Given the description of an element on the screen output the (x, y) to click on. 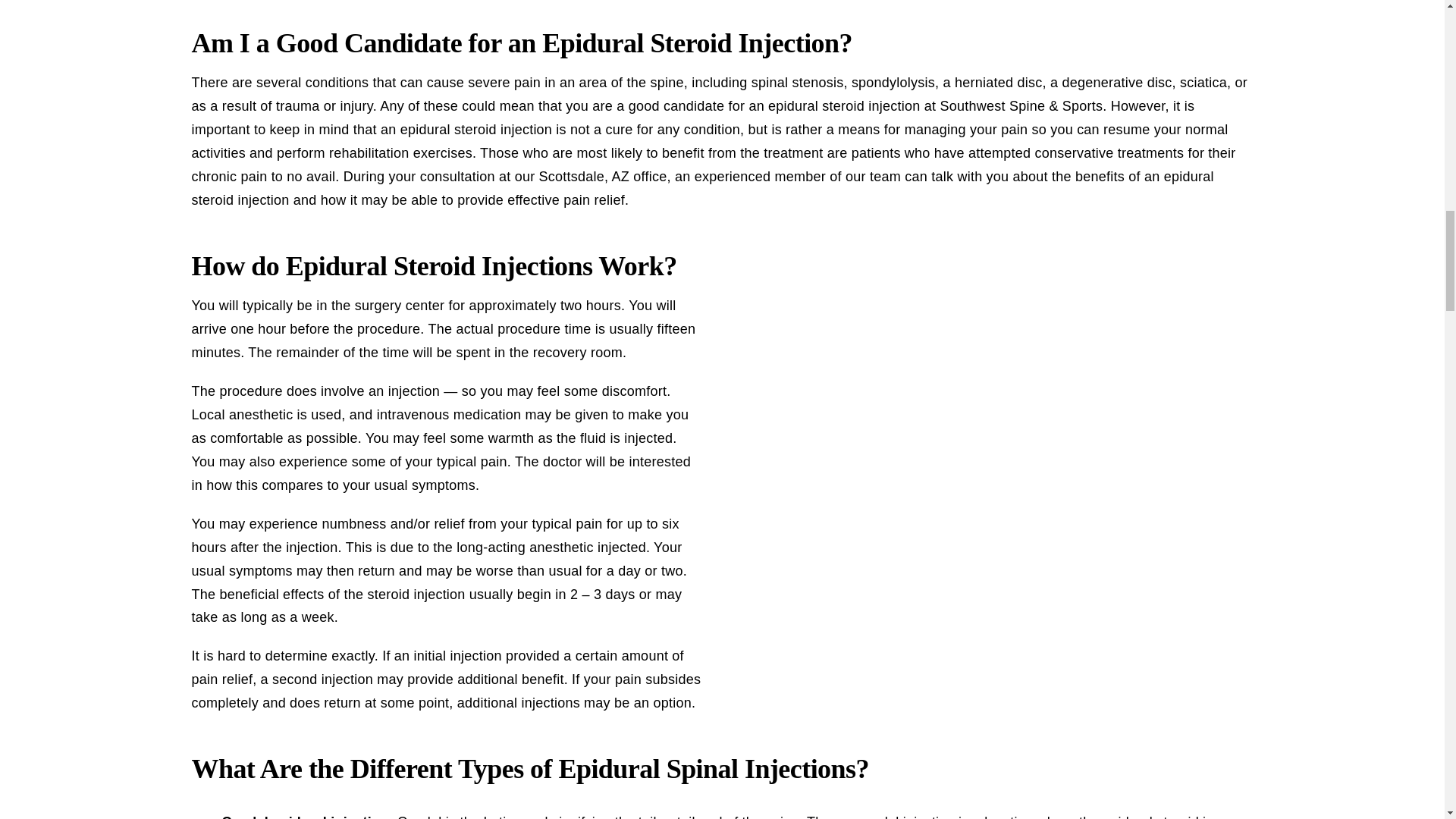
1183835 (856, 247)
